Given the description of an element on the screen output the (x, y) to click on. 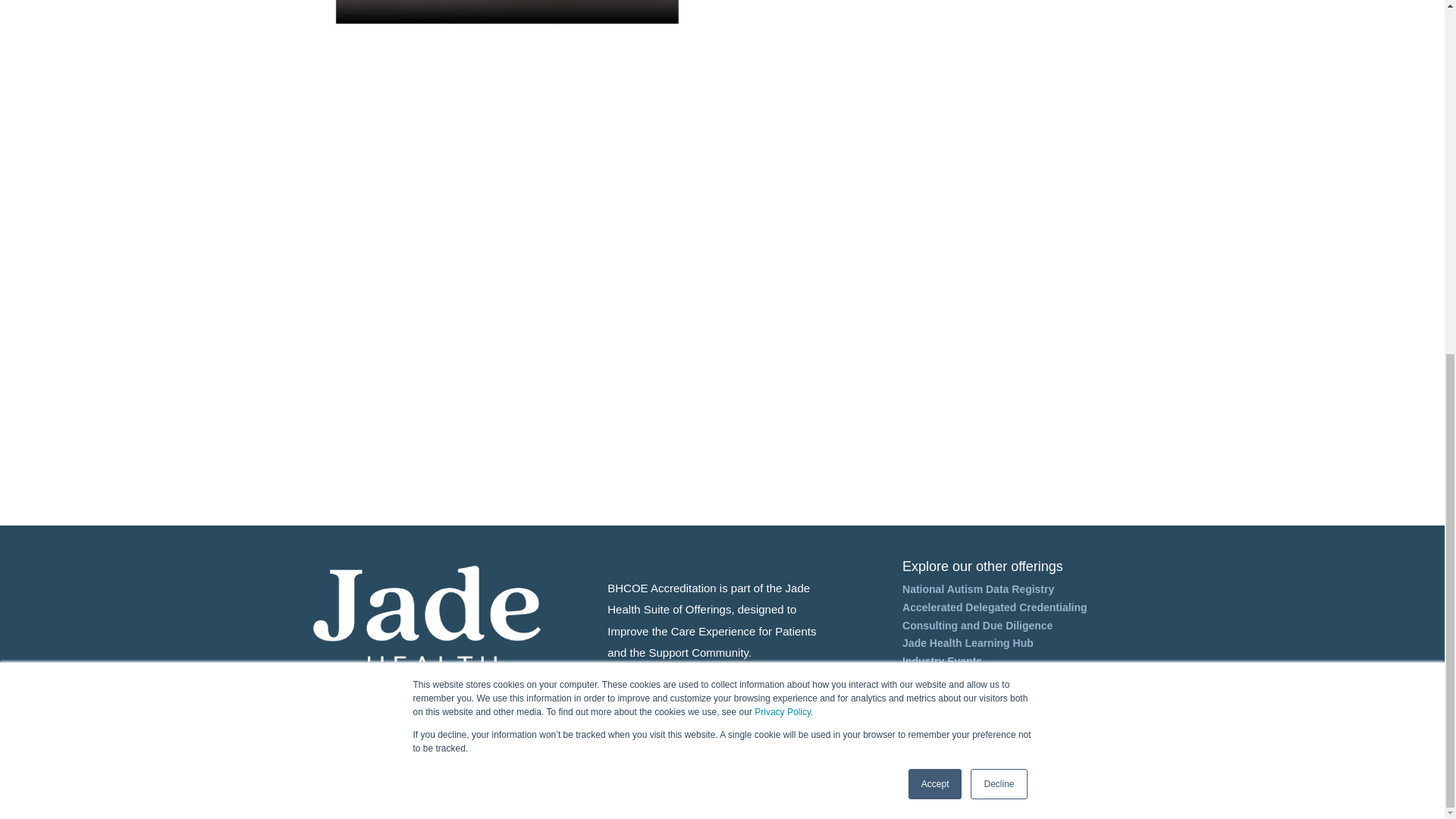
Consulting and due diligence (977, 625)
Privacy Policy (782, 92)
Accelerated Delegated Credentialing overview (994, 607)
Accept (935, 164)
Follow on Facebook (1039, 749)
BHCOE Position Statement COVER (505, 22)
Follow on LinkedIn (1056, 749)
Industry events (941, 661)
2018 b corp logo white web (949, 767)
Decline (998, 164)
Follow on Instagram (1072, 749)
National Autism Data Registry overview (978, 589)
BHCOE learning hub (967, 643)
